Given the description of an element on the screen output the (x, y) to click on. 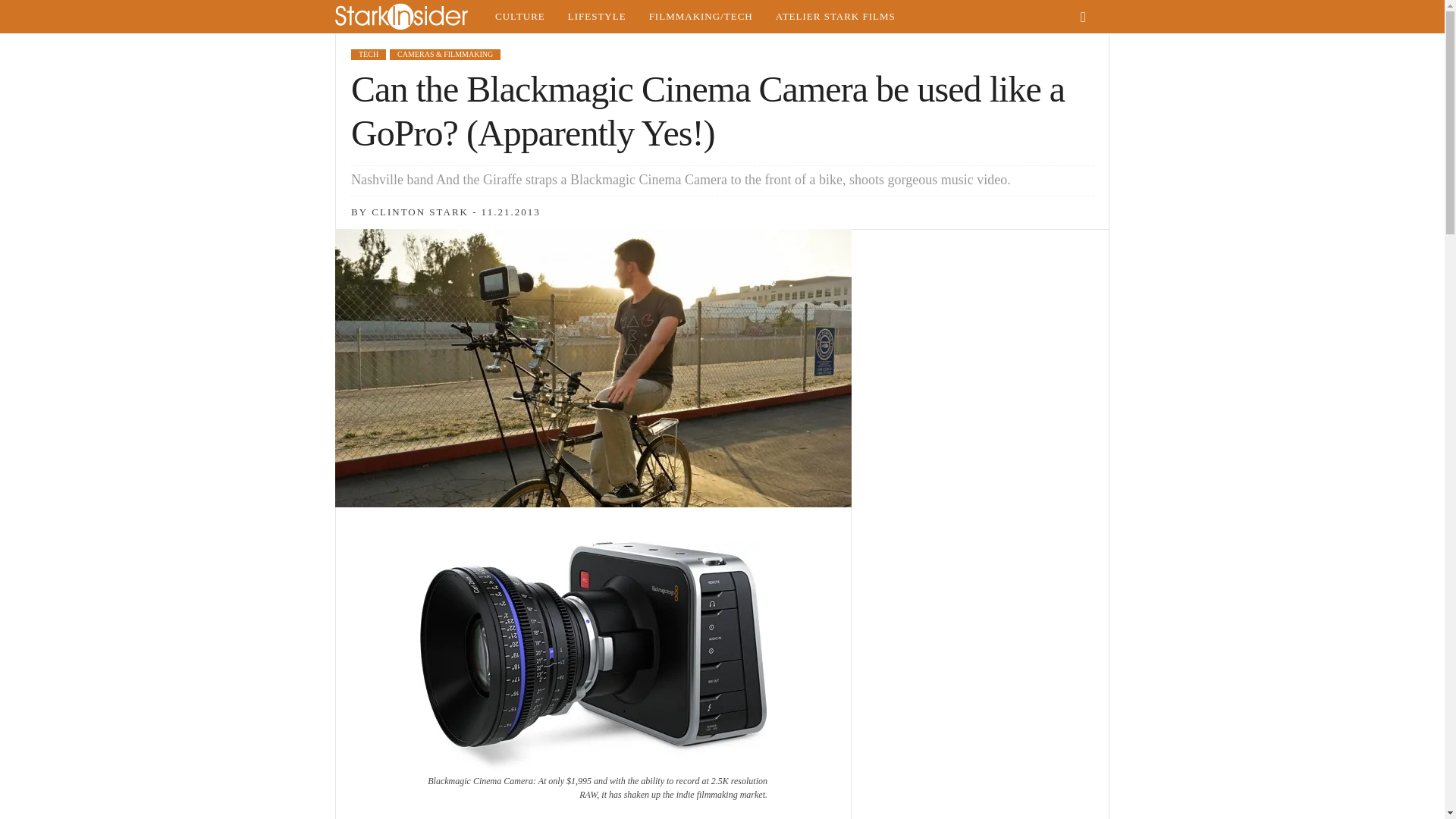
LIFESTYLE (596, 16)
CLINTON STARK (419, 211)
Tech, gadgets, camera news and reviews from Silicon Valley (700, 16)
ATELIER STARK FILMS (835, 16)
CULTURE (519, 16)
Indie film, music, arts in San Francisco and Silicon Valley (519, 16)
TECH (367, 54)
Blackmagic Cinema Camera - Music Video (593, 656)
